Given the description of an element on the screen output the (x, y) to click on. 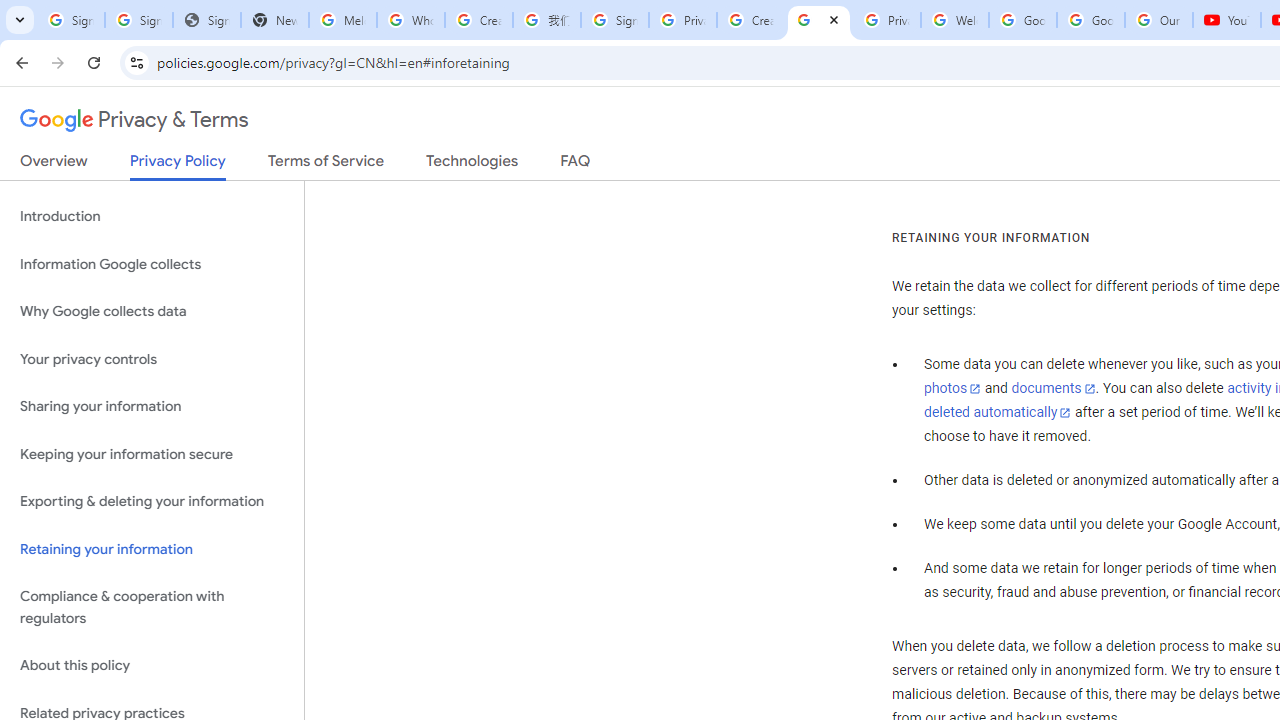
Create your Google Account (750, 20)
documents (1053, 389)
Why Google collects data (152, 312)
YouTube (1226, 20)
Sign in - Google Accounts (138, 20)
Who is my administrator? - Google Account Help (411, 20)
